Given the description of an element on the screen output the (x, y) to click on. 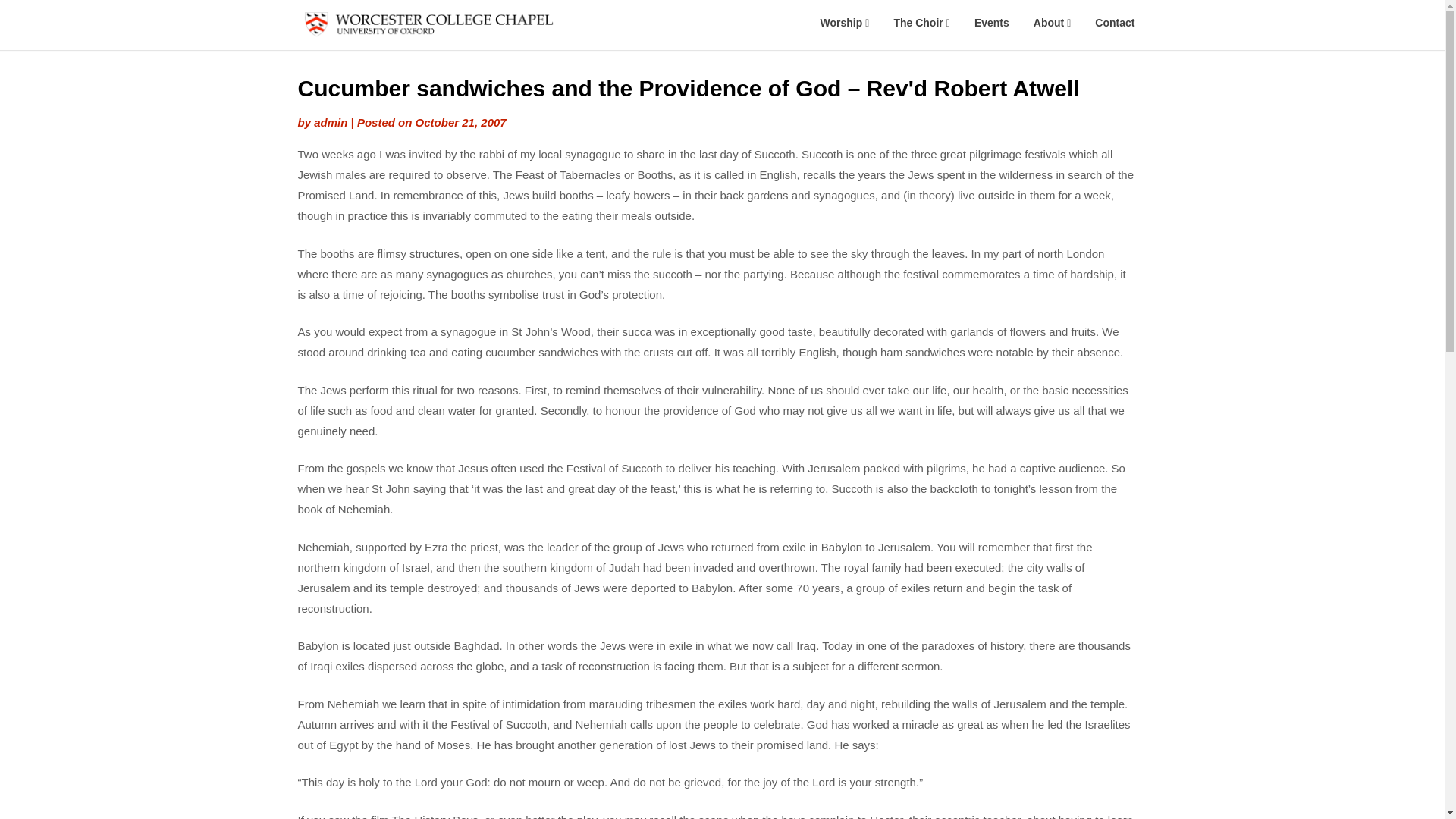
October 21, 2007 (460, 122)
Worcester College Chapel (608, 43)
About (1052, 22)
admin (330, 122)
Contact (1115, 22)
The Choir (920, 22)
Worship (845, 22)
Events (992, 22)
